Given the description of an element on the screen output the (x, y) to click on. 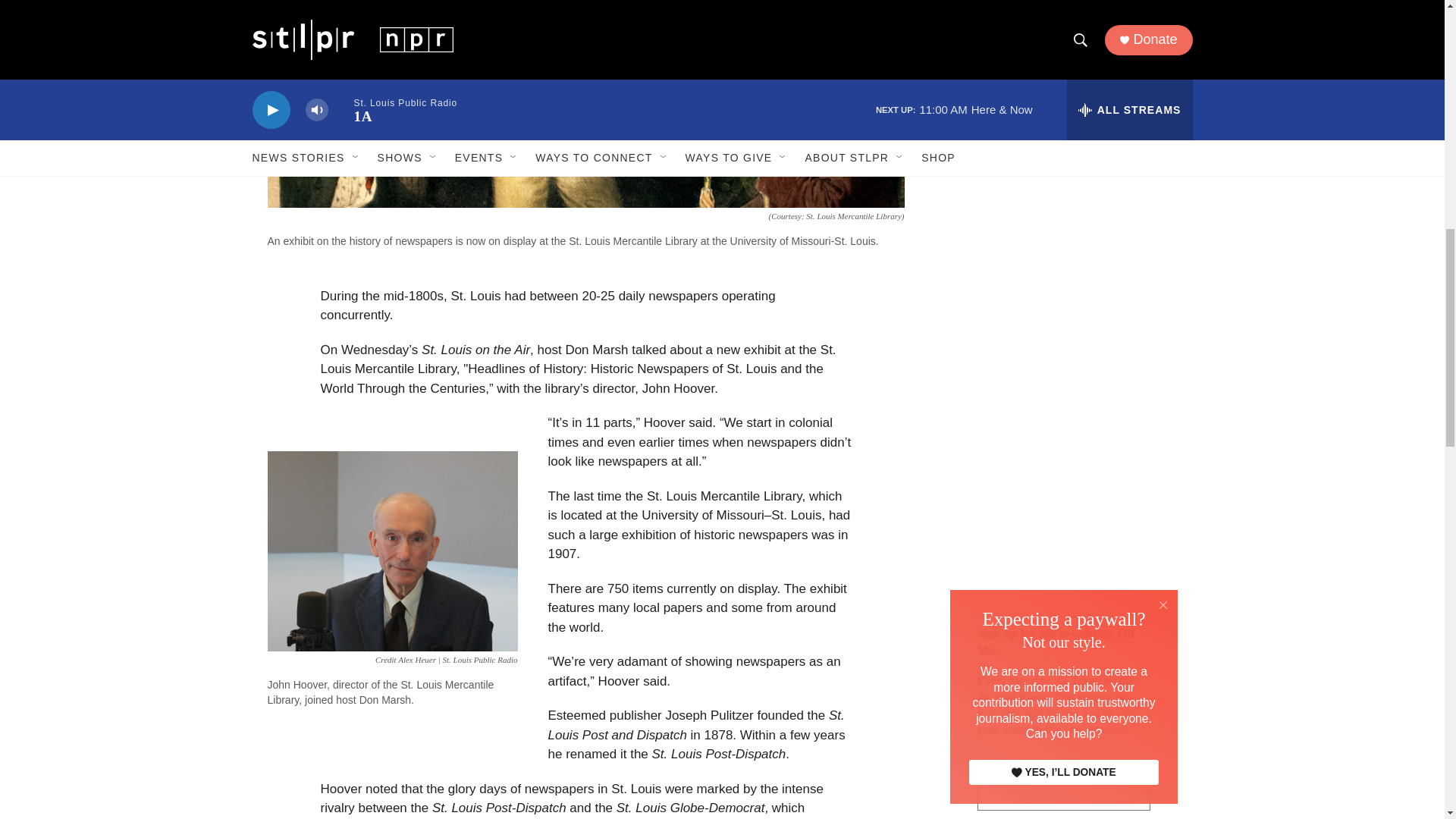
3rd party ad content (1062, 442)
3rd party ad content (1062, 48)
3rd party ad content (1062, 222)
